Given the description of an element on the screen output the (x, y) to click on. 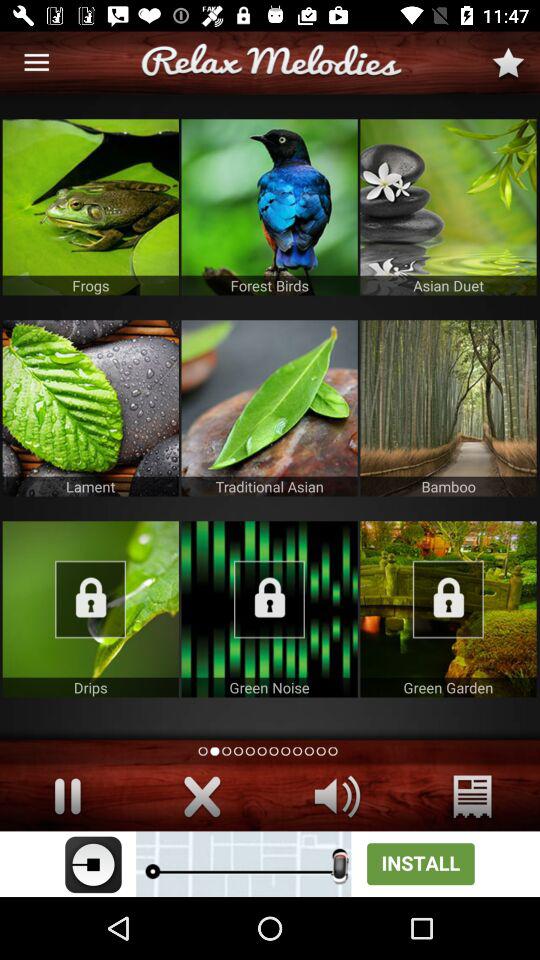
add banner (270, 864)
